Given the description of an element on the screen output the (x, y) to click on. 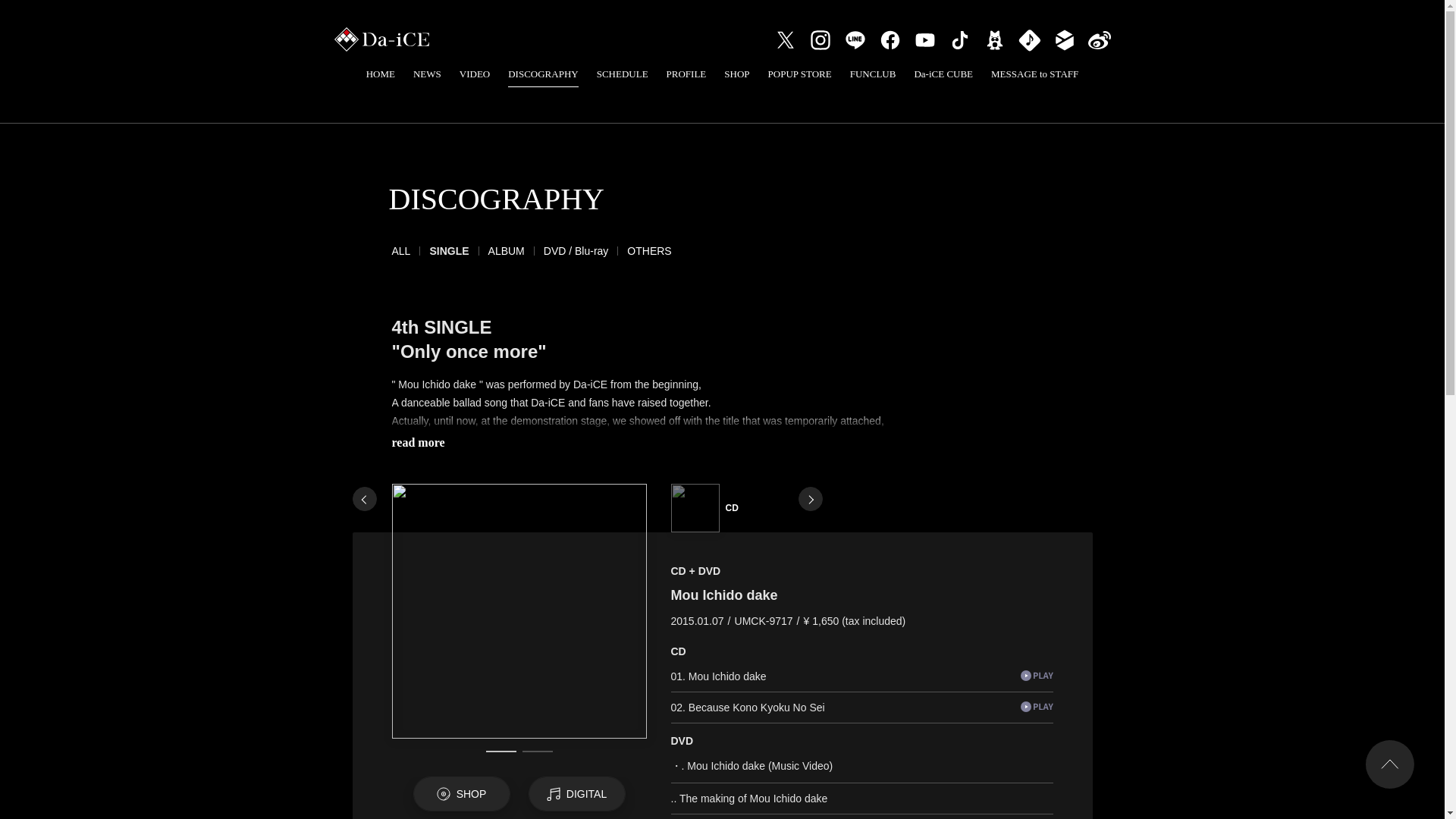
1 (499, 751)
MESSAGE to STAFF (1034, 73)
Next (809, 498)
OTHERS (649, 250)
Da-iCE CUBE (943, 73)
SHOP (736, 73)
PROFILE (686, 73)
HOME (380, 73)
NEWS (427, 73)
ALL (400, 250)
